Given the description of an element on the screen output the (x, y) to click on. 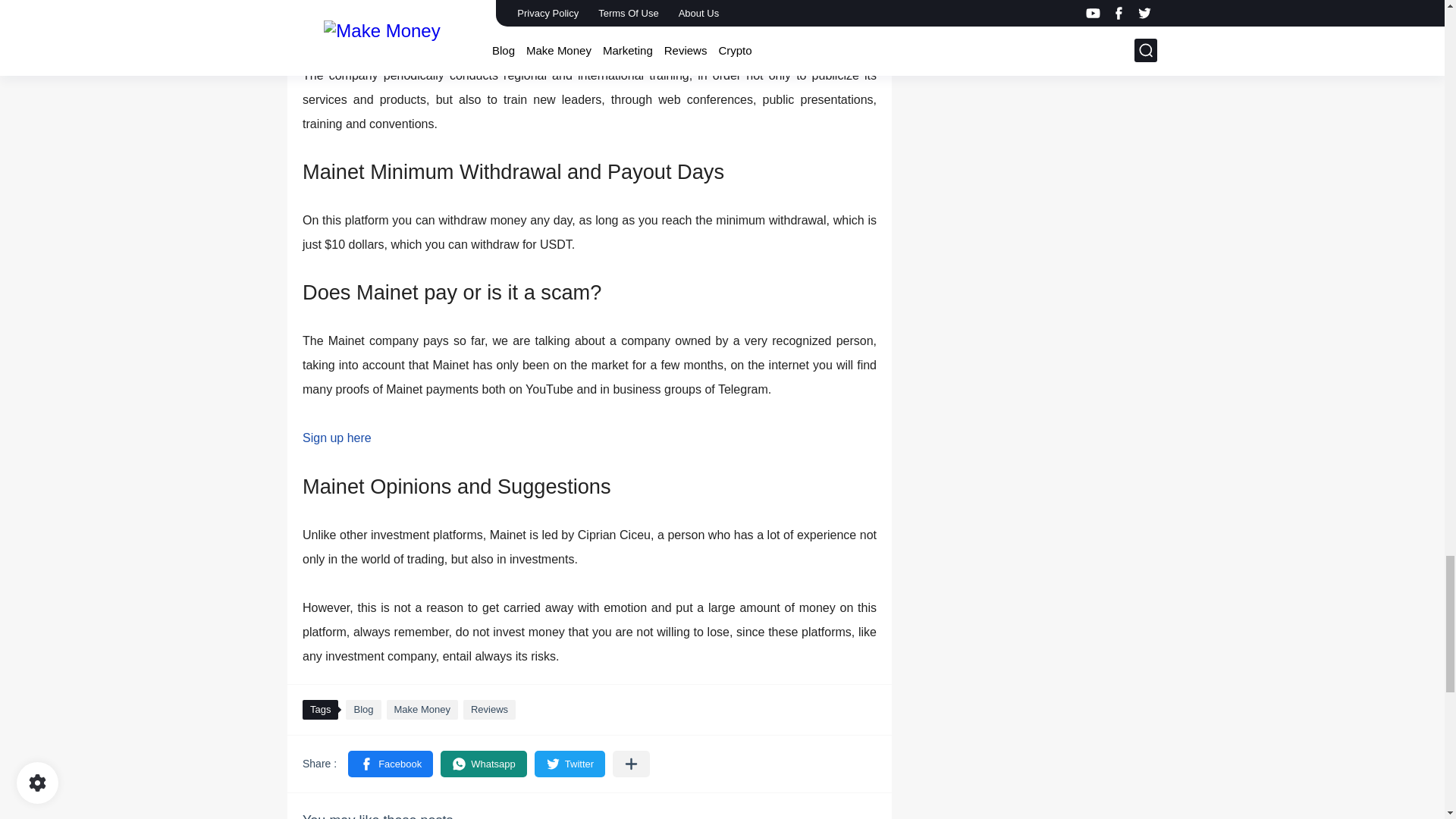
Blog (363, 709)
Make Money (422, 709)
